Given the description of an element on the screen output the (x, y) to click on. 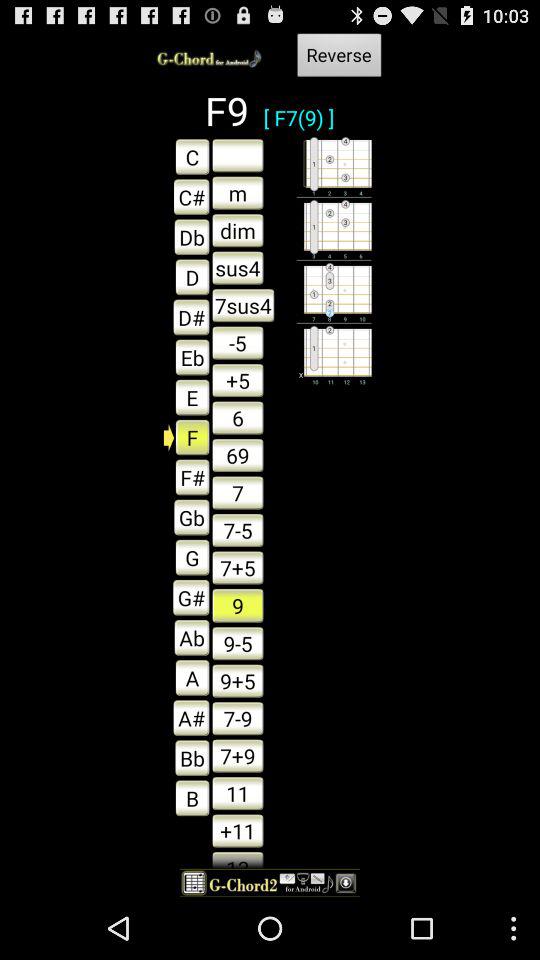
tap dim (237, 230)
